Given the description of an element on the screen output the (x, y) to click on. 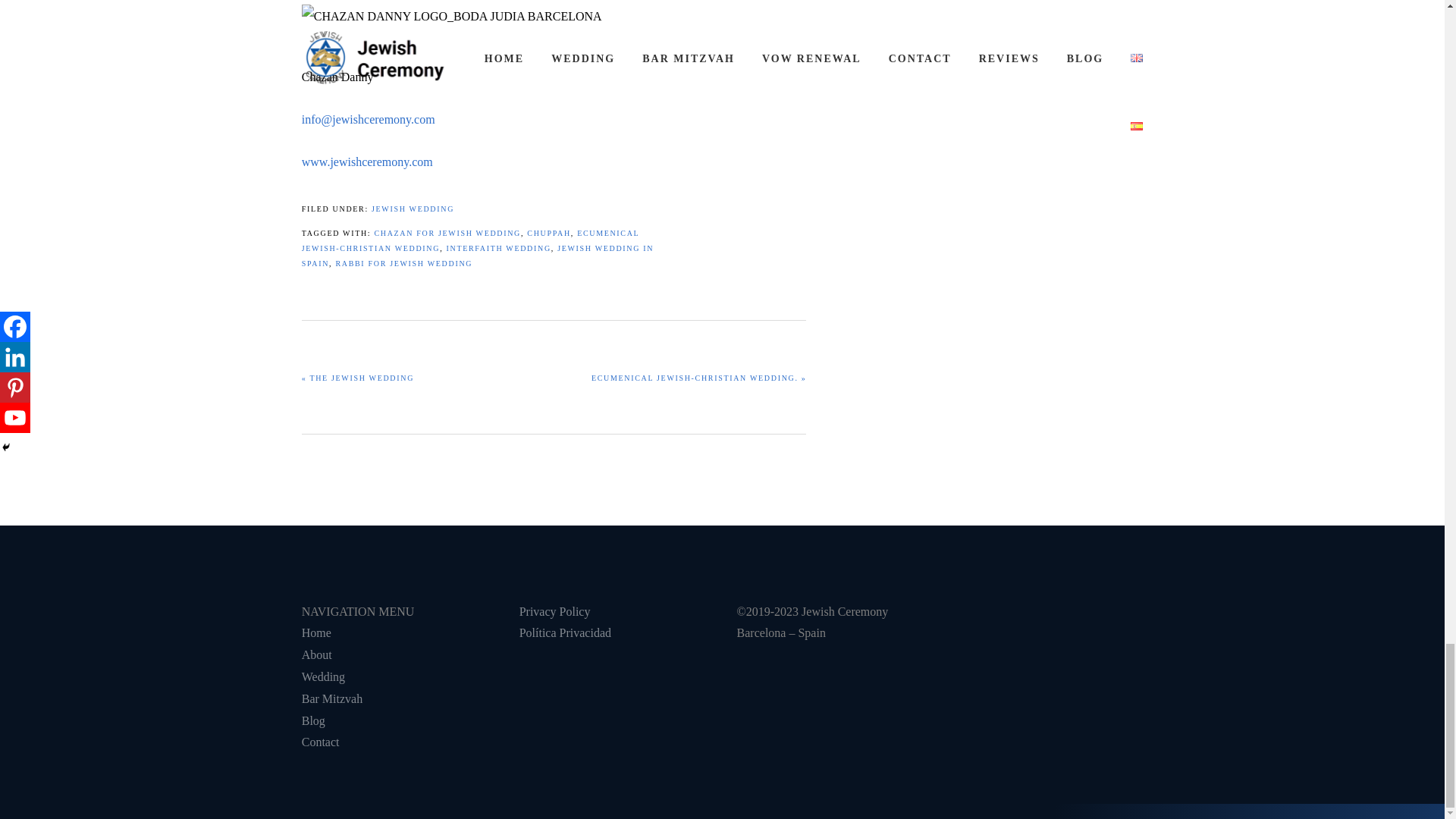
INTERFAITH WEDDING (497, 248)
RABBI FOR JEWISH WEDDING (402, 263)
JEWISH WEDDING IN SPAIN (477, 255)
www.jewishceremony.com (366, 161)
JEWISH WEDDING (412, 208)
CHUPPAH (548, 233)
ECUMENICAL JEWISH-CHRISTIAN WEDDING (470, 240)
CHAZAN FOR JEWISH WEDDING (447, 233)
